Given the description of an element on the screen output the (x, y) to click on. 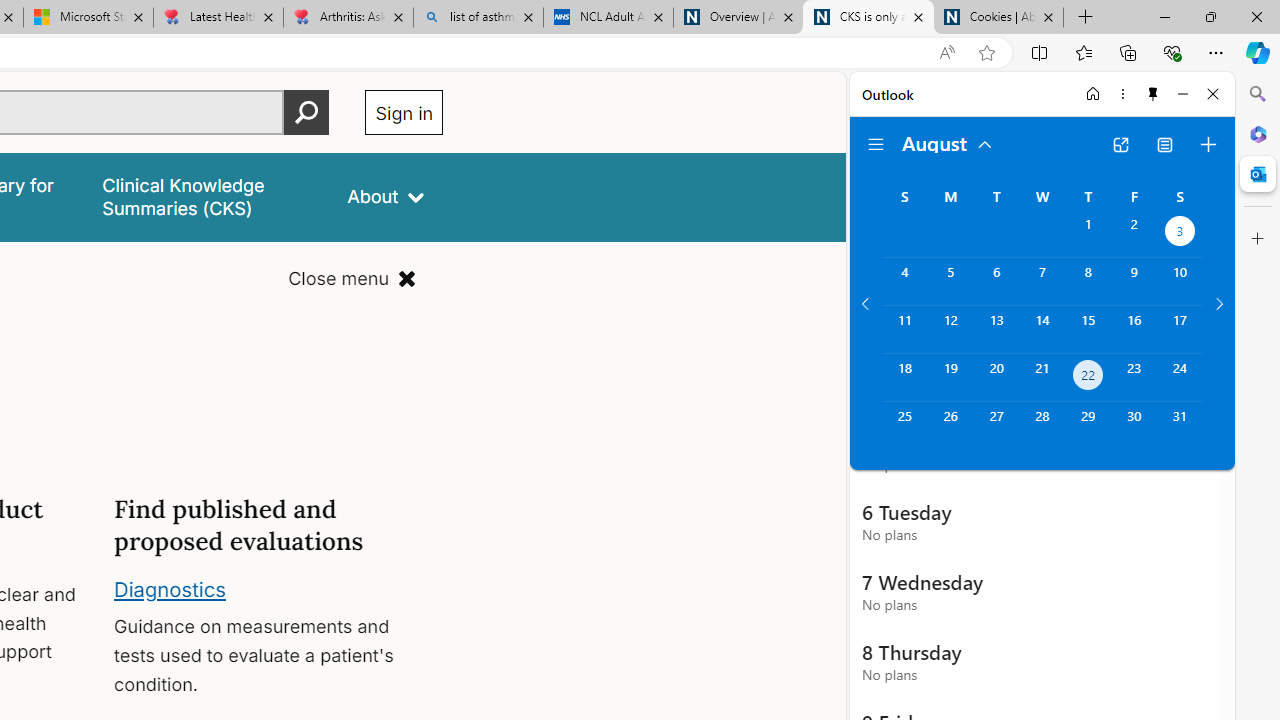
About (386, 196)
Arthritis: Ask Health Professionals (348, 17)
About (386, 196)
Sunday, August 4, 2024.  (904, 281)
Perform search (307, 112)
Friday, August 23, 2024.  (1134, 377)
Create event (1208, 144)
list of asthma inhalers uk - Search (477, 17)
Close Customize pane (1258, 239)
Wednesday, August 7, 2024.  (1042, 281)
